Given the description of an element on the screen output the (x, y) to click on. 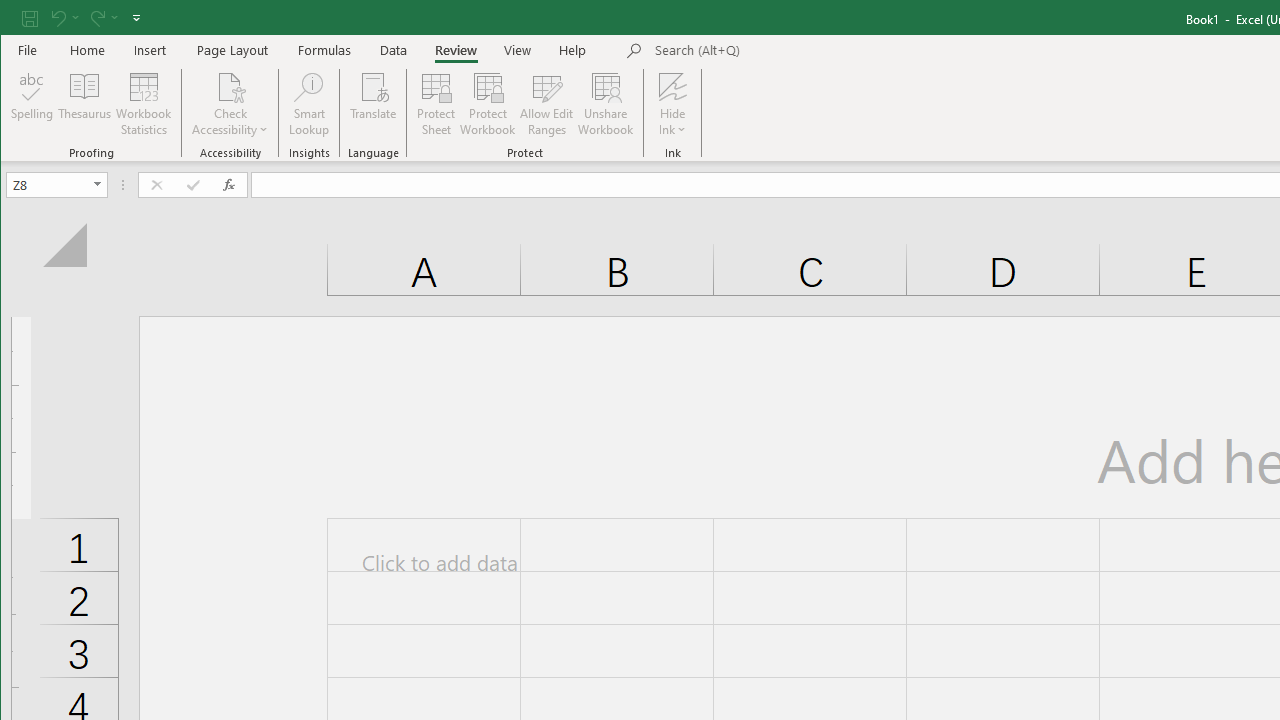
Spelling... (32, 104)
Translate (373, 104)
Thesaurus... (84, 104)
Hide Ink (672, 86)
Hide Ink (672, 104)
